Given the description of an element on the screen output the (x, y) to click on. 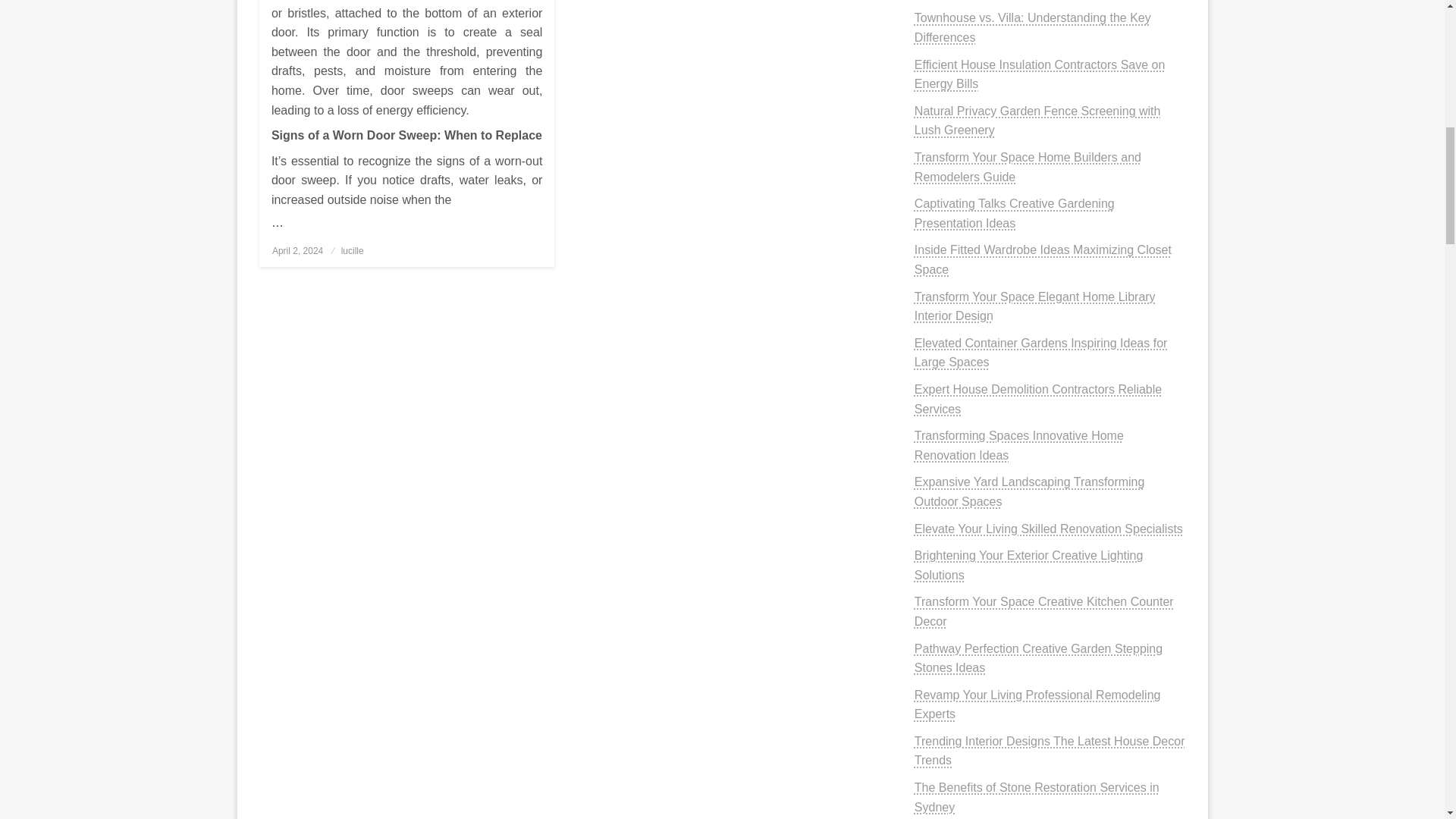
lucille (352, 250)
lucille (352, 250)
April 2, 2024 (297, 250)
